Given the description of an element on the screen output the (x, y) to click on. 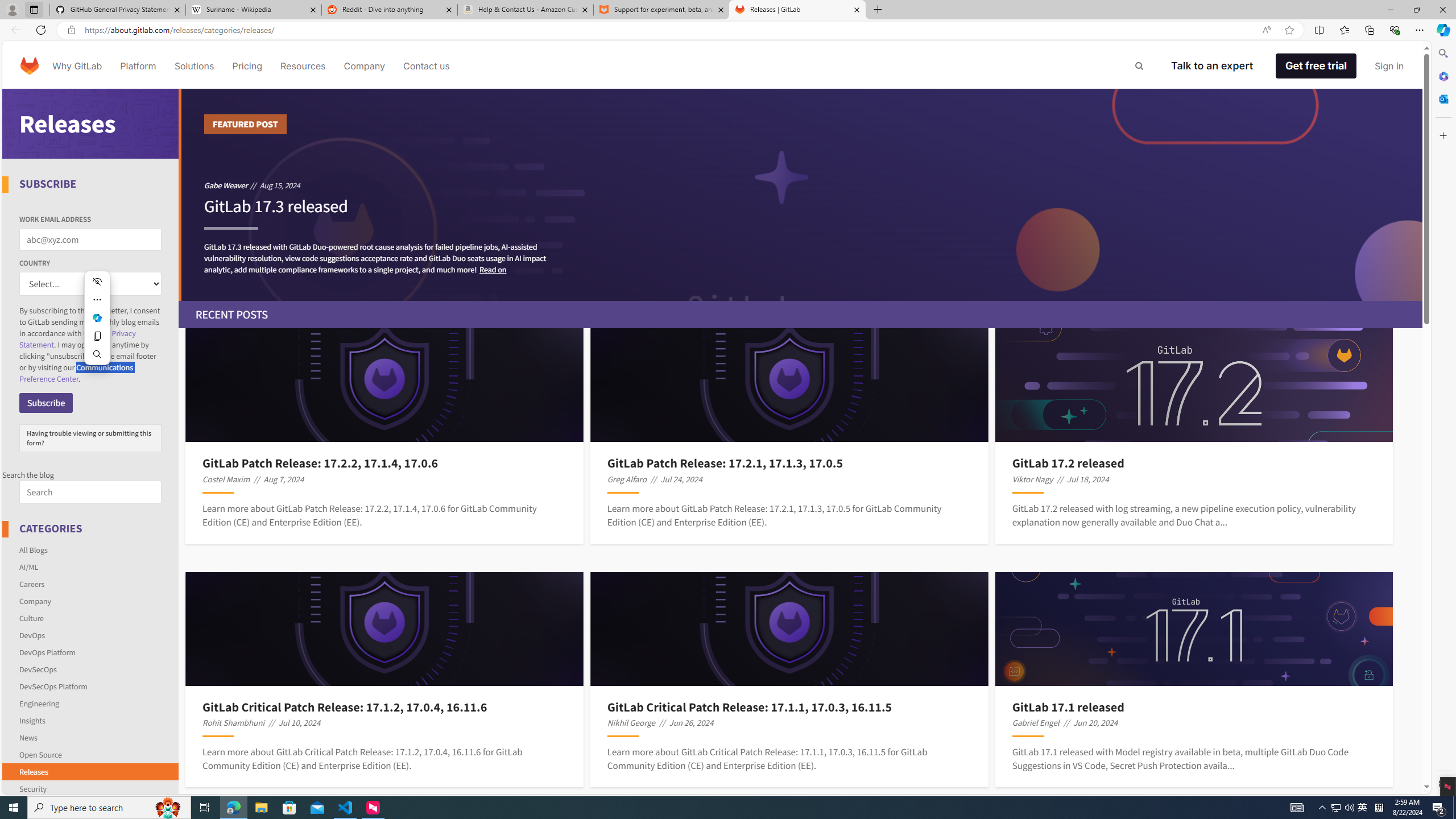
All Blogs (90, 549)
Releases (90, 771)
DevSecOps Platform (90, 686)
Insights (90, 719)
Engineering (38, 703)
Why GitLab (77, 65)
DevOps Platform (46, 652)
DevOps Platform (90, 651)
Resources (302, 65)
DevOps (31, 635)
Gabe Weaver (225, 184)
DevSecOps (90, 669)
